Given the description of an element on the screen output the (x, y) to click on. 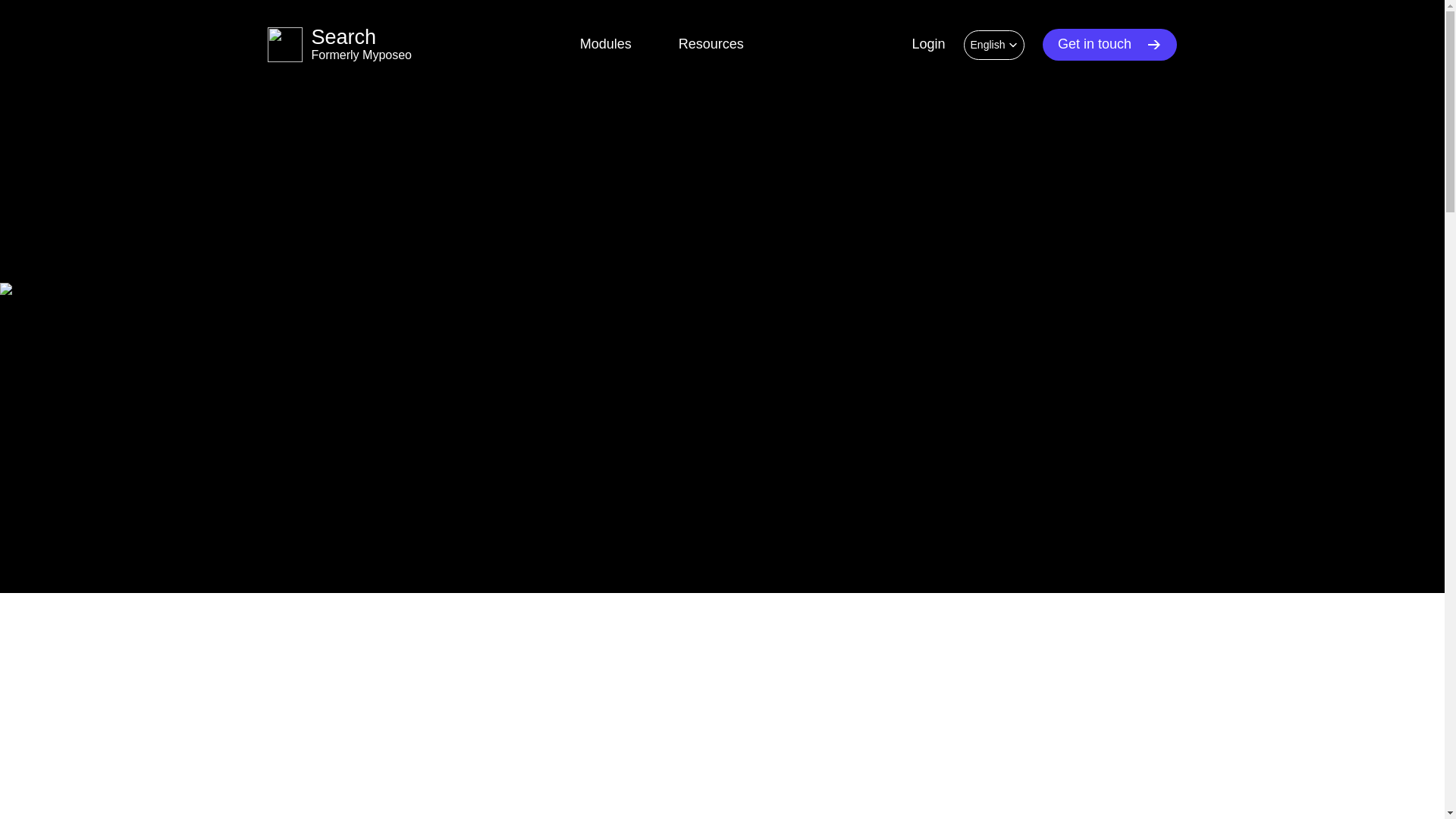
Modules (338, 44)
Login (605, 43)
Resources (927, 43)
Get in touch (711, 43)
